Given the description of an element on the screen output the (x, y) to click on. 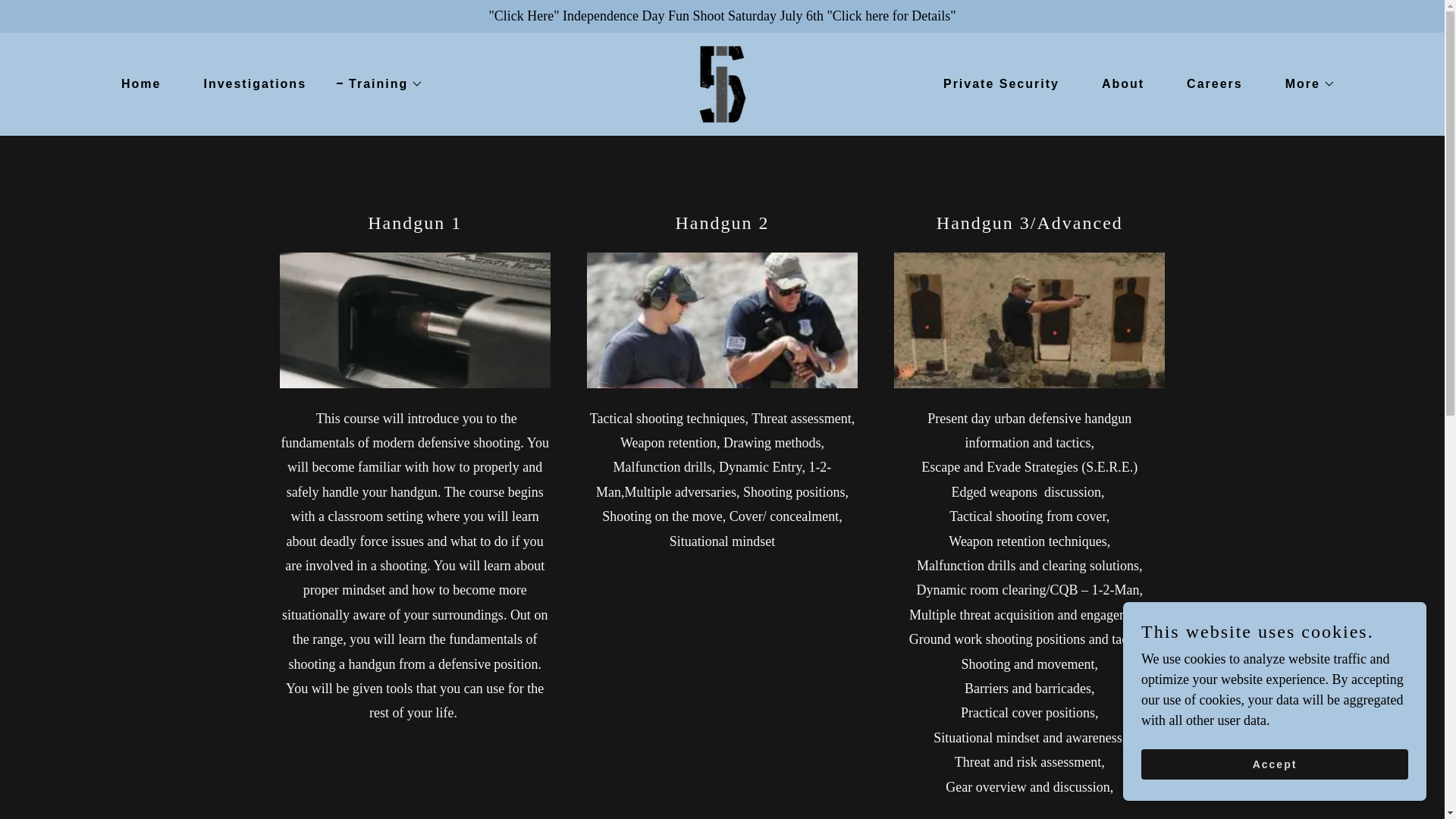
i5 Services (722, 82)
About (1116, 83)
Careers (1208, 83)
Investigations (248, 83)
Private Security (995, 83)
Home (134, 83)
Training (379, 84)
